Given the description of an element on the screen output the (x, y) to click on. 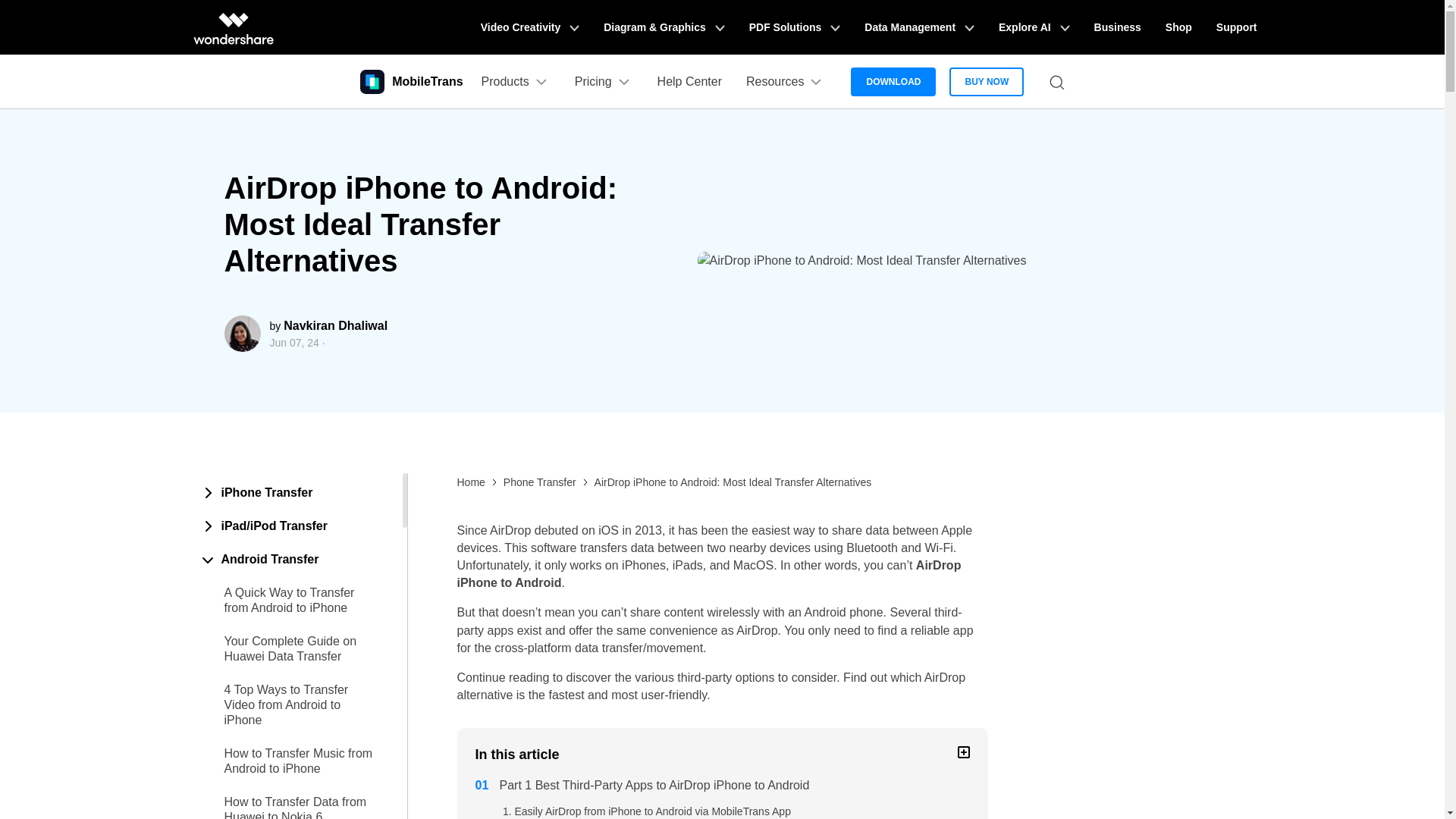
Video Creativity (529, 27)
Explore AI (1034, 27)
PDF Solutions (794, 27)
Data Management (919, 27)
